Given the description of an element on the screen output the (x, y) to click on. 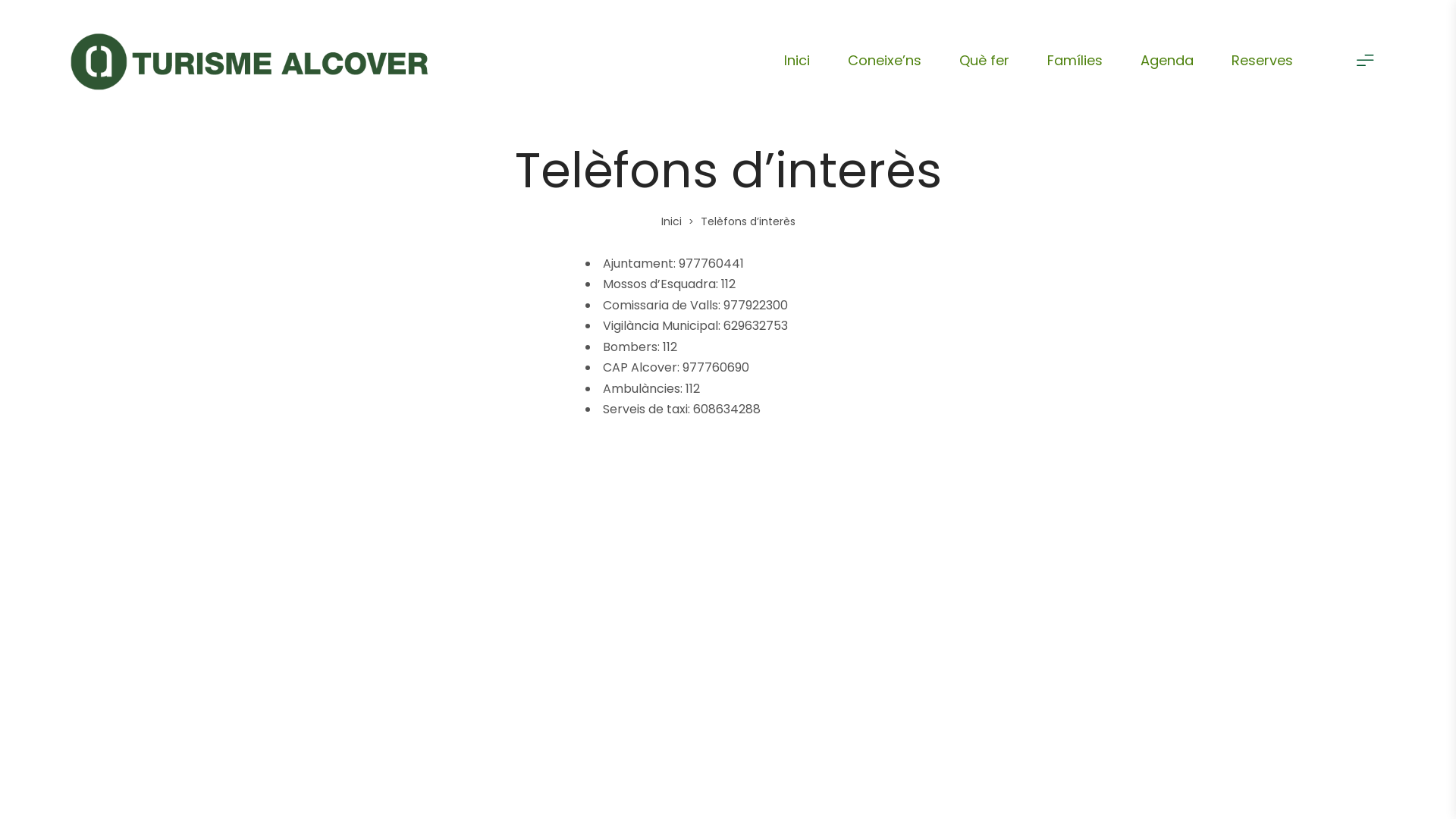
Reserves Element type: text (1261, 60)
Inici Element type: text (796, 60)
Inici Element type: text (671, 221)
Agenda Element type: text (1166, 60)
